Given the description of an element on the screen output the (x, y) to click on. 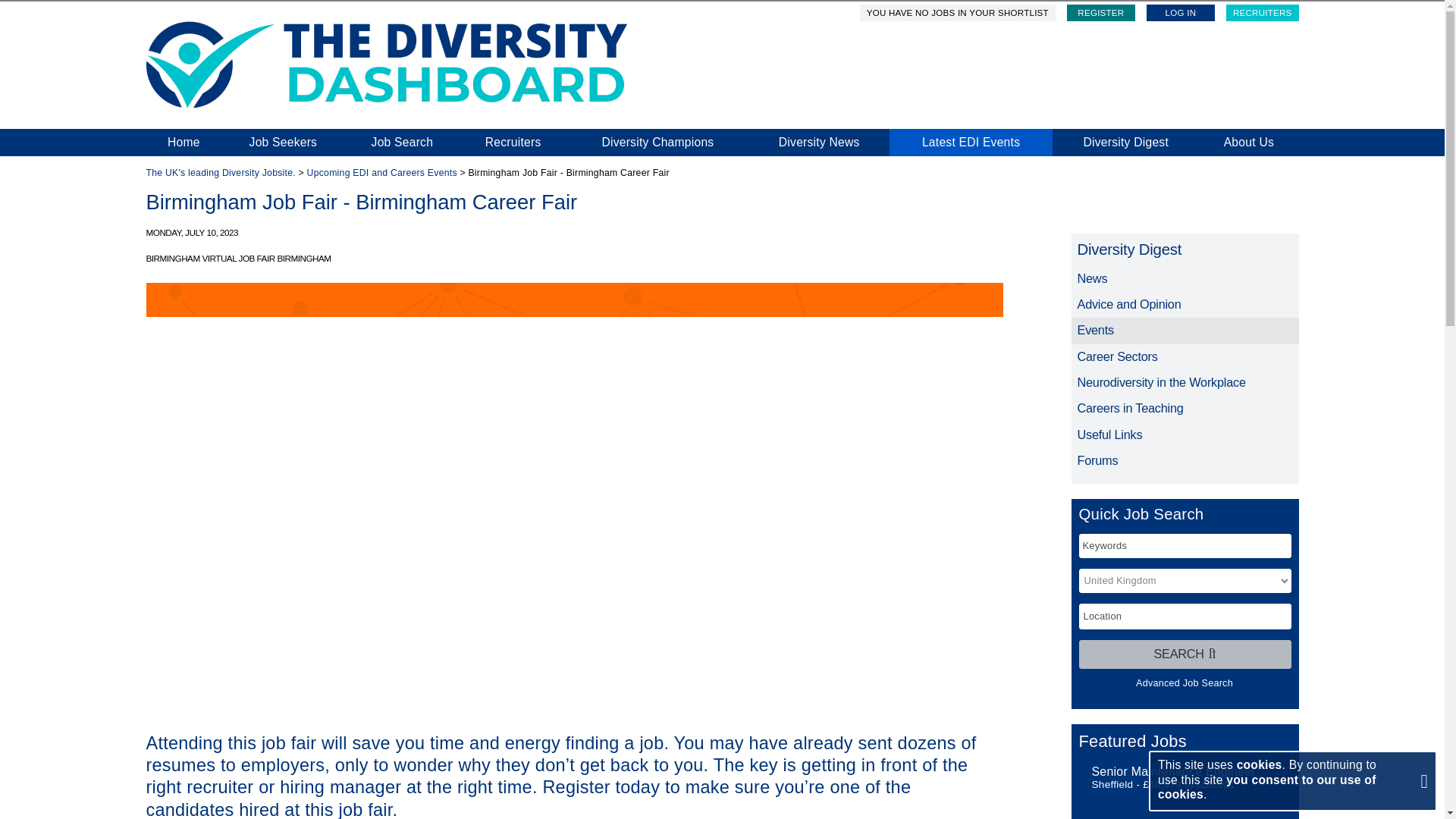
News (1184, 278)
Career Sectors (1184, 356)
Latest EDI Events (970, 142)
LOG IN (1180, 12)
YOU HAVE NO JOBS IN YOUR SHORTLIST (957, 12)
Neurodiversity in the Workplace (1184, 382)
Job Search (402, 142)
SEARCH (1184, 654)
Diversity News (819, 142)
The UK's leading Diversity Jobsite. (220, 172)
